Given the description of an element on the screen output the (x, y) to click on. 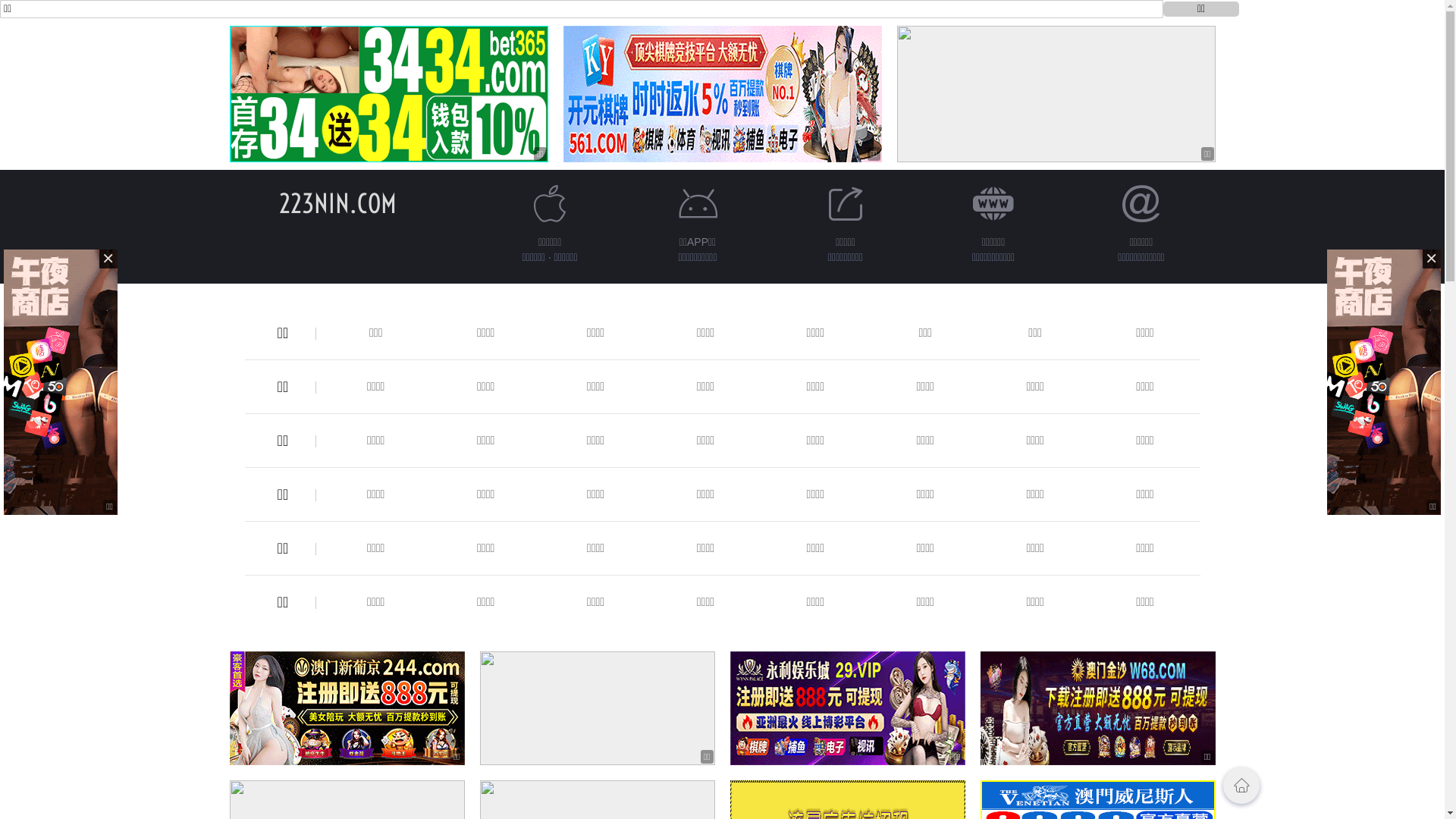
223NIN.COM Element type: text (337, 203)
